Given the description of an element on the screen output the (x, y) to click on. 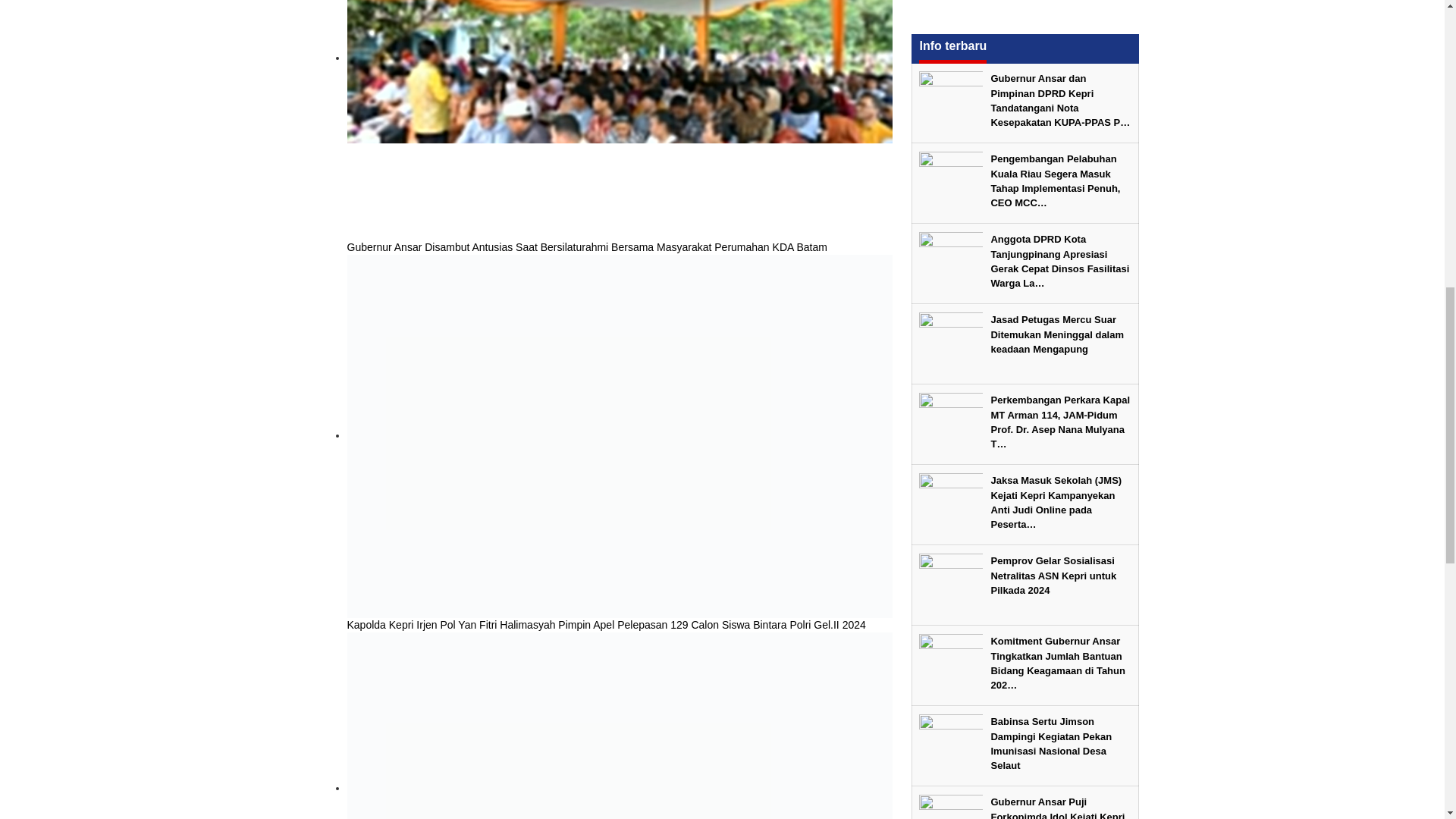
WhatsApp Image 2024-07-21 at 23.53.13 (620, 120)
